Given the description of an element on the screen output the (x, y) to click on. 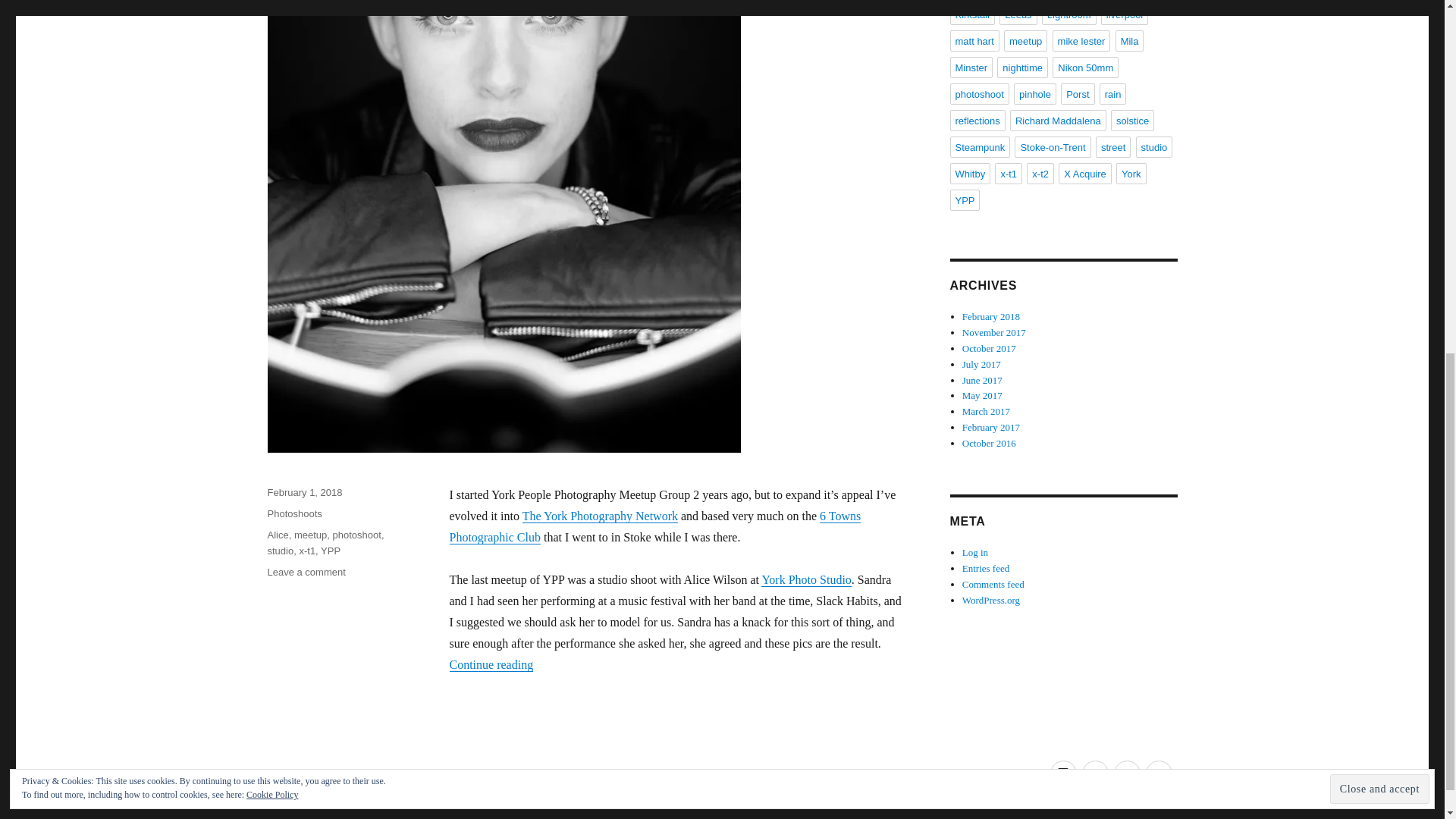
The York Photography Network (305, 572)
York Photo Studio (600, 514)
February 1, 2018 (805, 578)
6 Towns Photographic Club (304, 491)
photoshoot (654, 525)
YPP (357, 534)
Alice (330, 550)
Close and accept (277, 534)
Photoshoots (1379, 146)
